Given the description of an element on the screen output the (x, y) to click on. 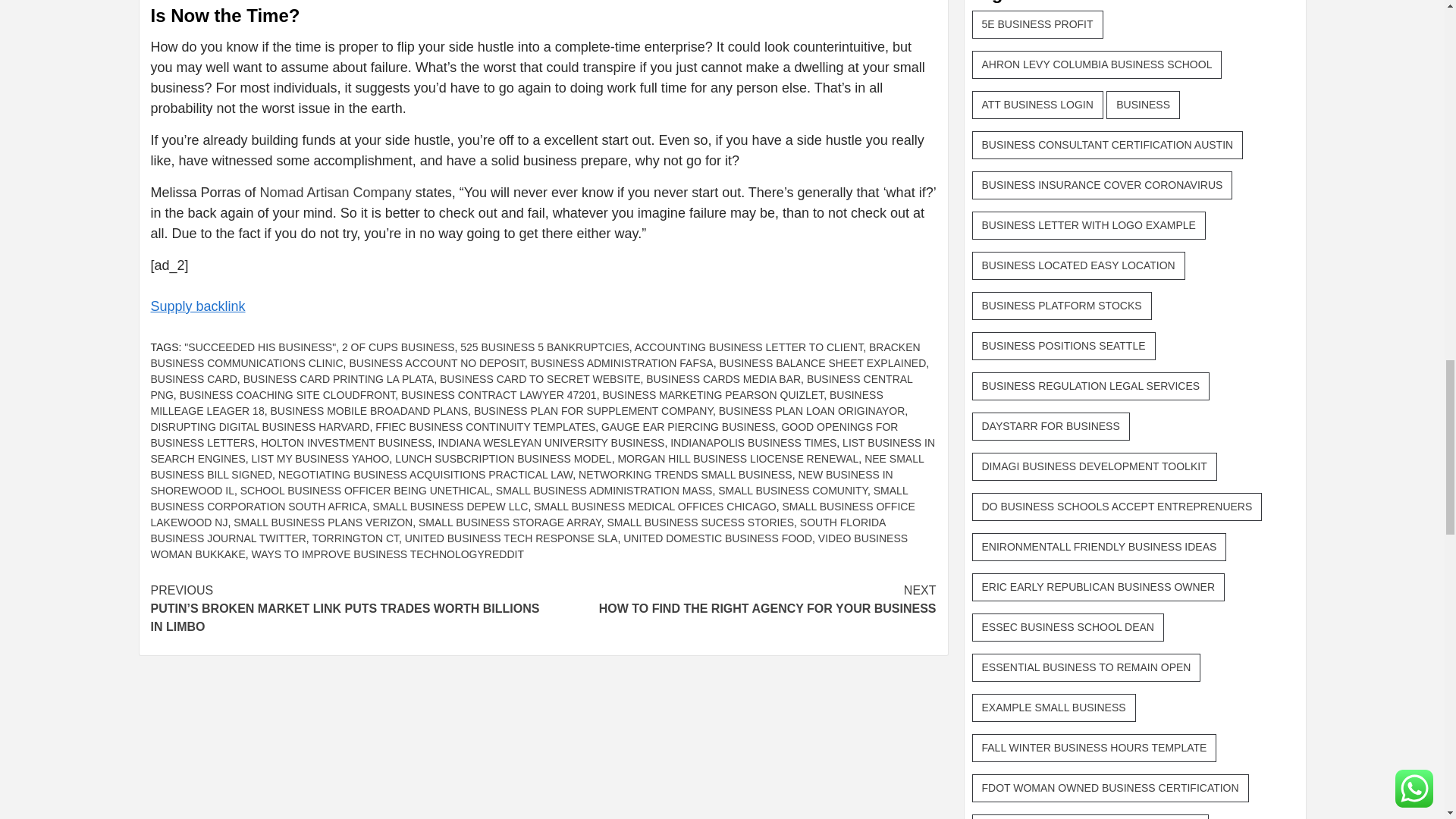
Supply backlink (196, 305)
525 BUSINESS 5 BANKRUPTCIES (544, 346)
"SUCCEEDED HIS BUSINESS" (260, 346)
BUSINESS BALANCE SHEET EXPLAINED (822, 363)
2 OF CUPS BUSINESS (398, 346)
Nomad Artisan Company (336, 192)
ACCOUNTING BUSINESS LETTER TO CLIENT (748, 346)
BUSINESS ACCOUNT NO DEPOSIT (436, 363)
BUSINESS CARD (192, 378)
BRACKEN BUSINESS COMMUNICATIONS CLINIC (534, 355)
